Given the description of an element on the screen output the (x, y) to click on. 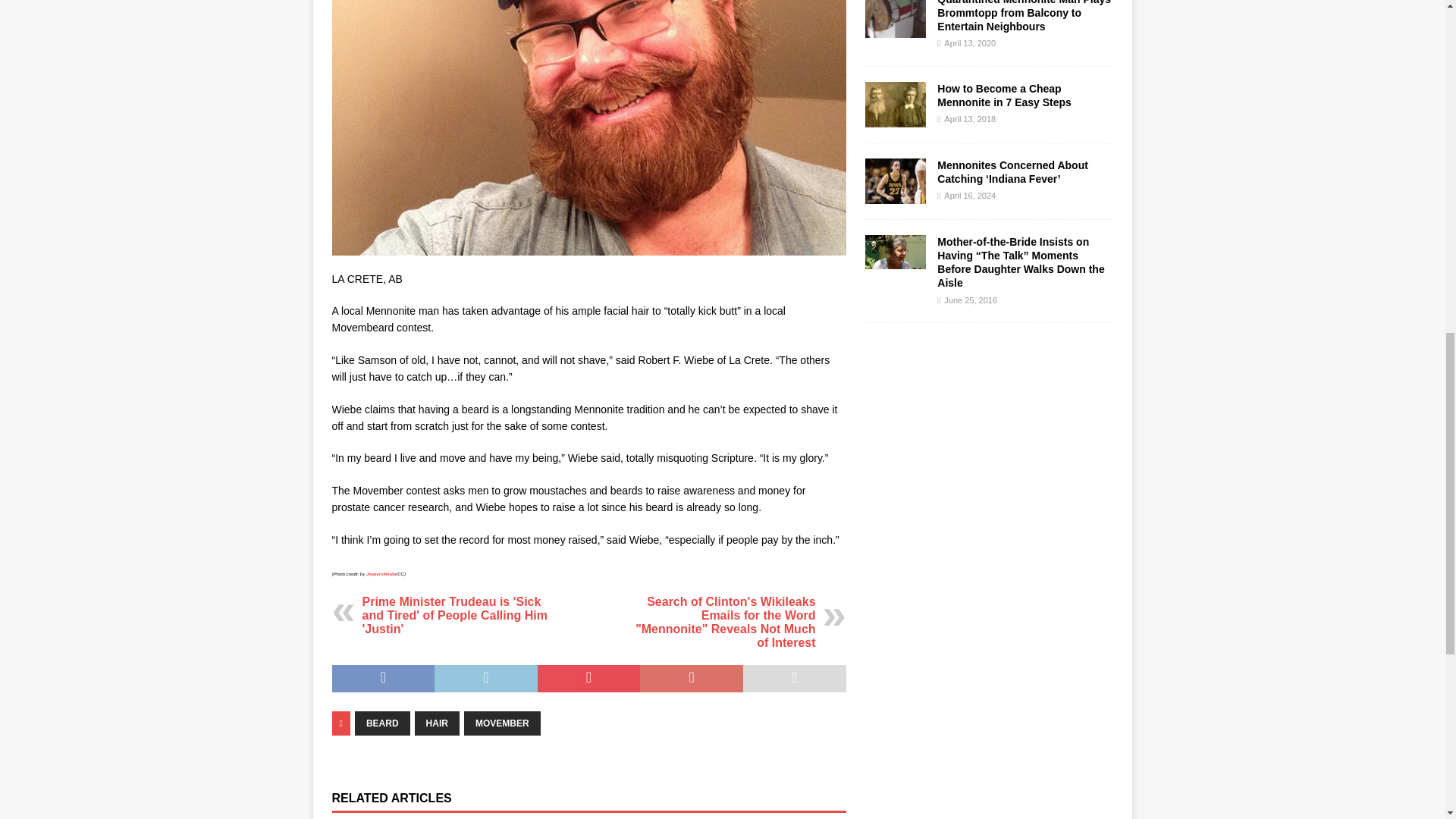
beard (588, 127)
JeepersMedia (381, 573)
